Given the description of an element on the screen output the (x, y) to click on. 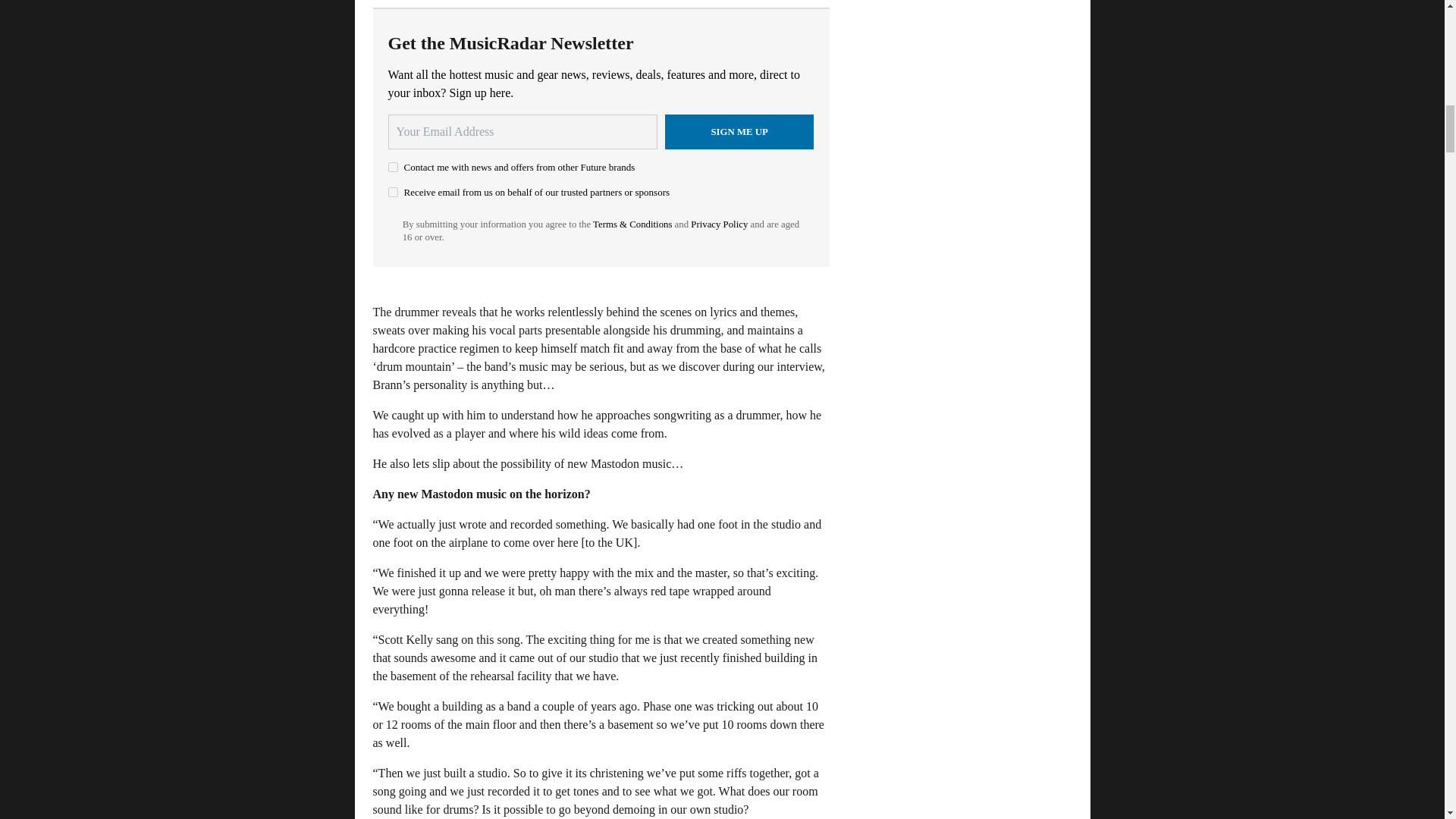
Sign me up (739, 131)
on (392, 192)
on (392, 166)
